Given the description of an element on the screen output the (x, y) to click on. 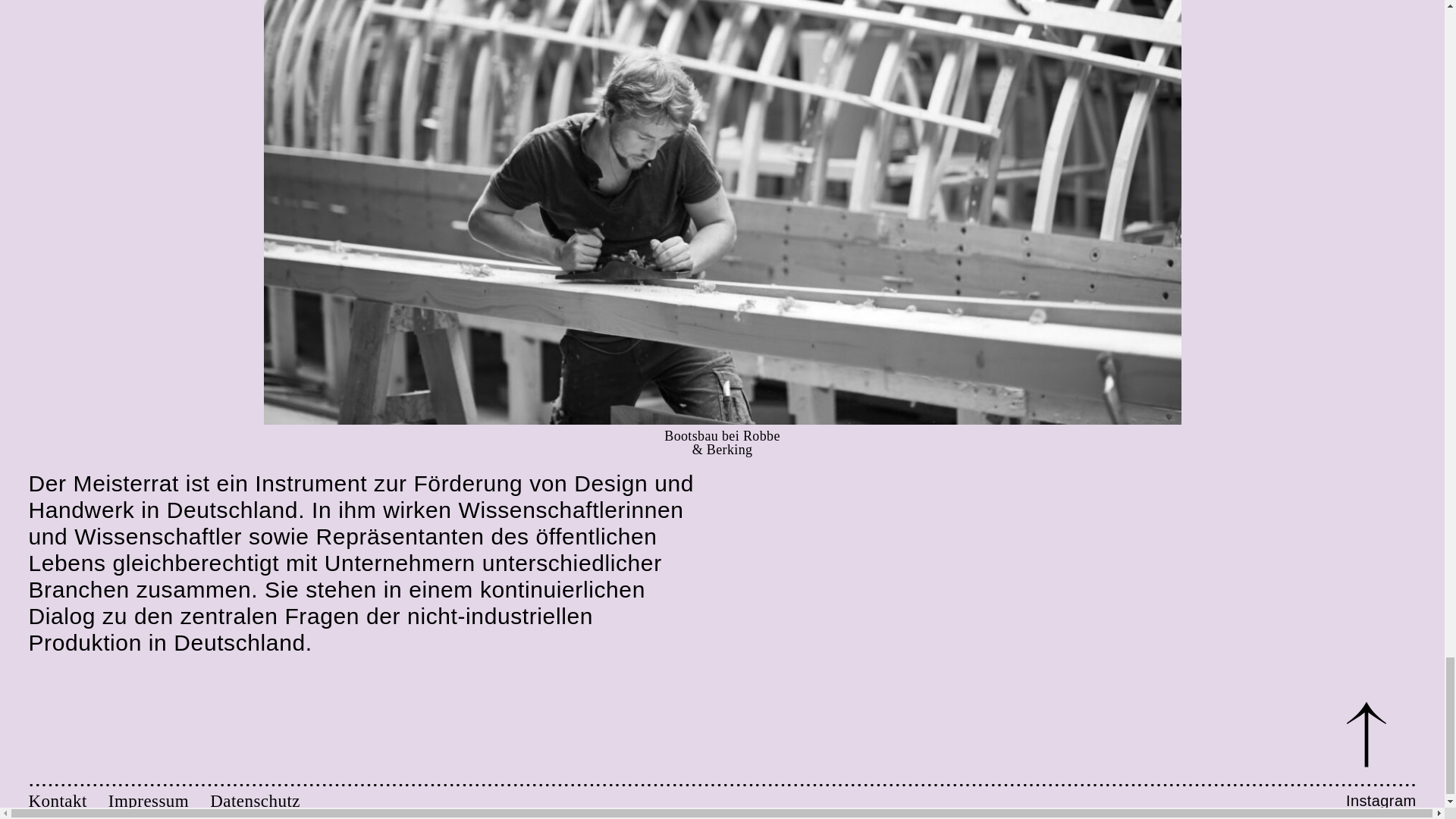
Datenschutz (254, 801)
Kontakt (68, 801)
Impressum (158, 801)
Instagram (1380, 801)
